Given the description of an element on the screen output the (x, y) to click on. 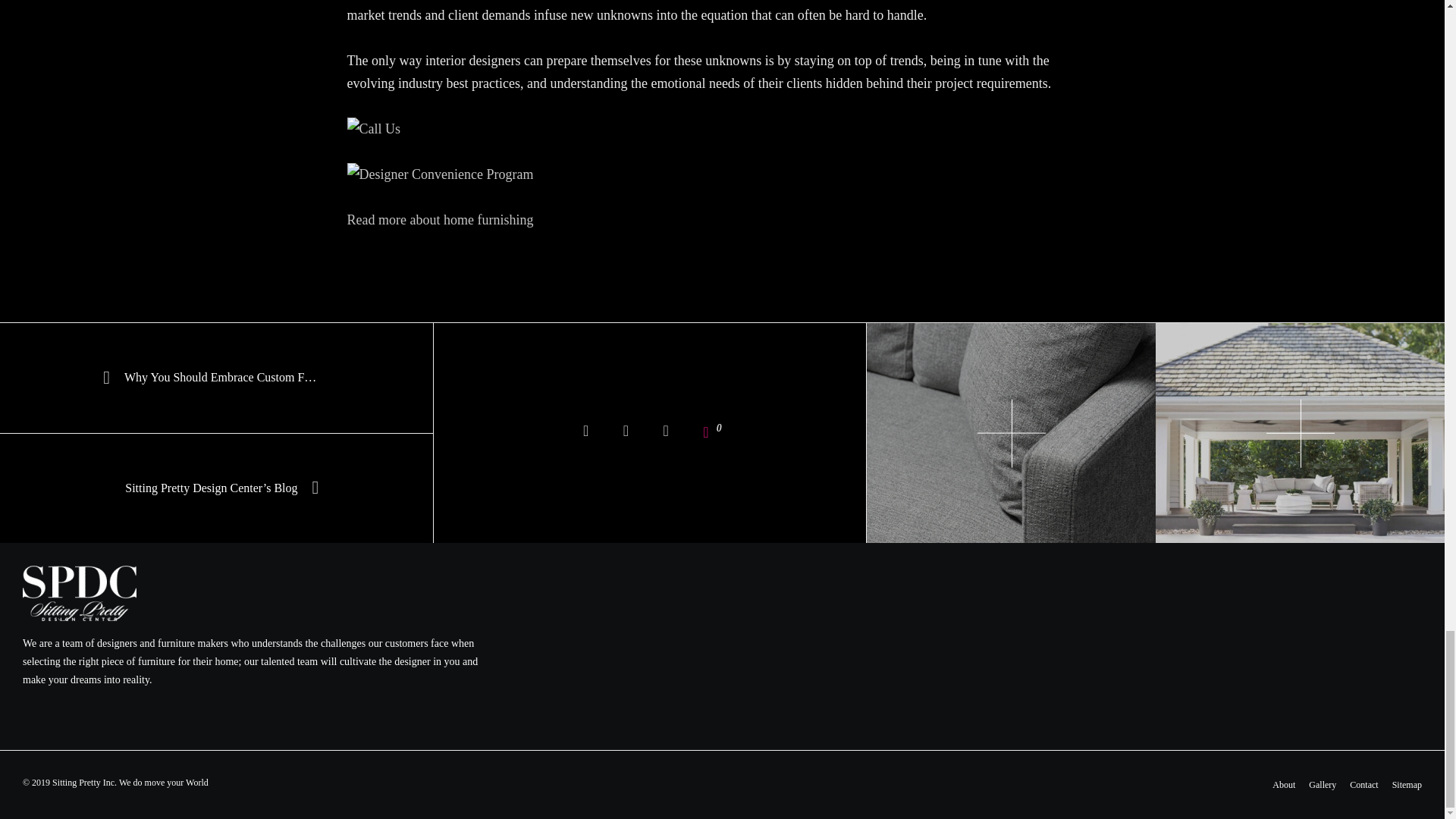
7 Biggest Struggles Facing Every Interior Designer Today (665, 432)
7 Biggest Struggles Facing Every Interior Designer Today (585, 432)
7 Biggest Struggles Facing Every Interior Designer Today (625, 432)
